Given the description of an element on the screen output the (x, y) to click on. 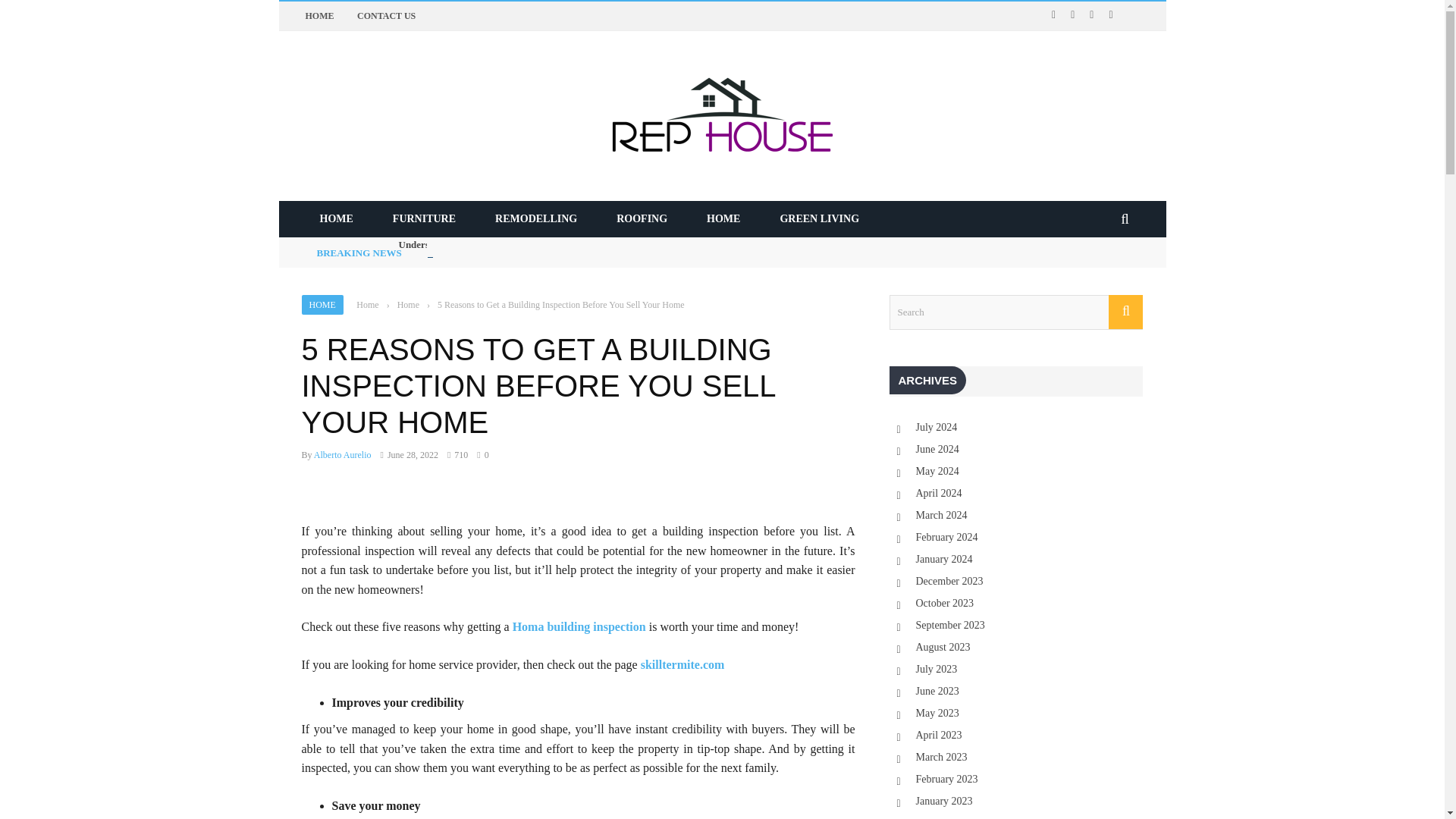
HOME (322, 304)
Understanding the Cost of Property Appraisal in Karlsruhe (523, 244)
HOME (336, 218)
REMODELLING (536, 218)
GREEN LIVING (819, 218)
Home (408, 304)
HOME (723, 218)
skilltermite.com (682, 664)
FURNITURE (424, 218)
HOME (318, 15)
ROOFING (641, 218)
Home (367, 304)
Alberto Aurelio (342, 454)
Homa building inspection (579, 626)
Search (1015, 312)
